Given the description of an element on the screen output the (x, y) to click on. 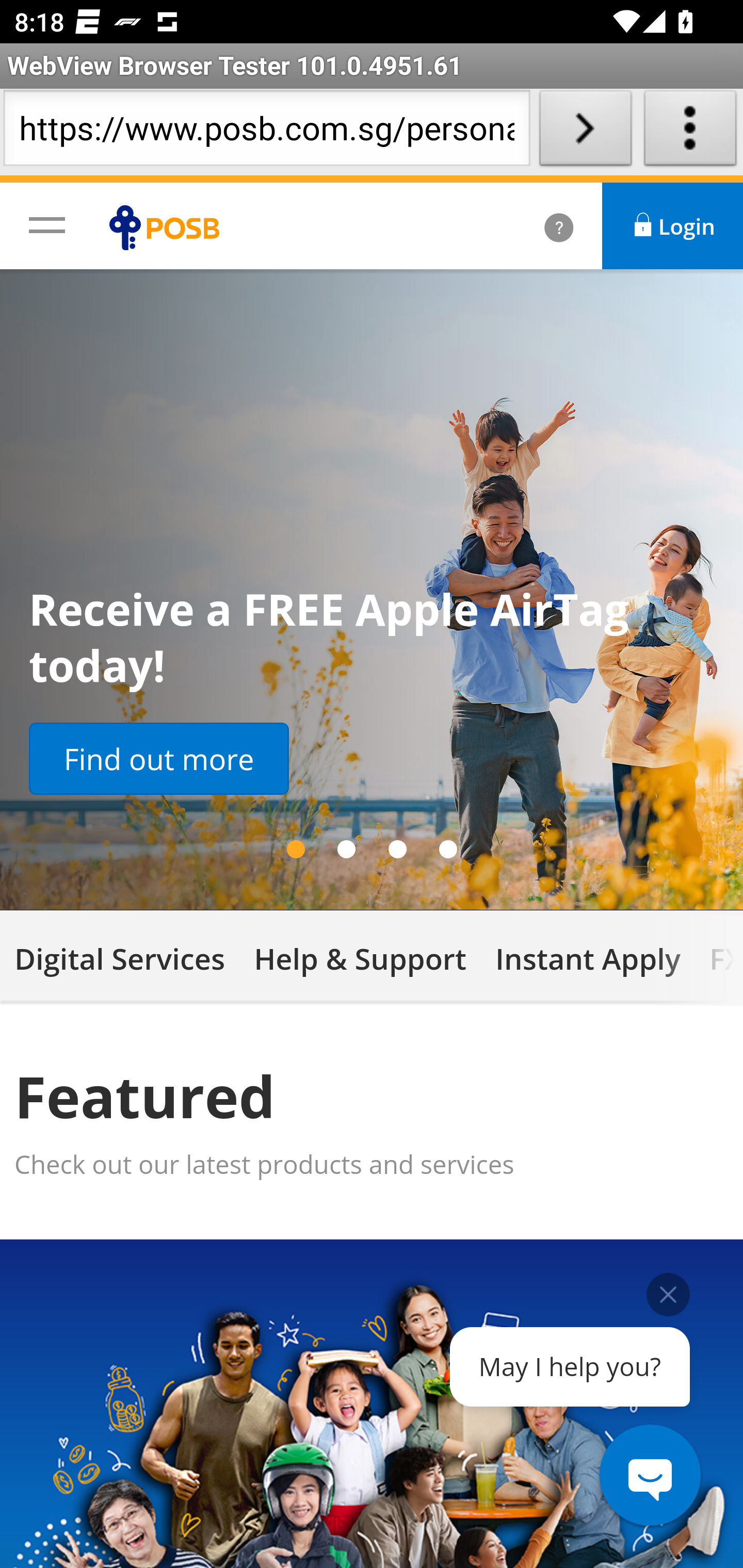
https://www.posb.com.sg/personal/default.page (266, 132)
Load URL (585, 132)
About WebView (690, 132)
javascript:void(0); (46, 223)
POSB logo (169, 226)
ﱲ (537, 226)
Login  Login (673, 225)
Find out more (158, 758)
Digital Services (119, 956)
Help & Support (360, 956)
Instant Apply (587, 956)
